Given the description of an element on the screen output the (x, y) to click on. 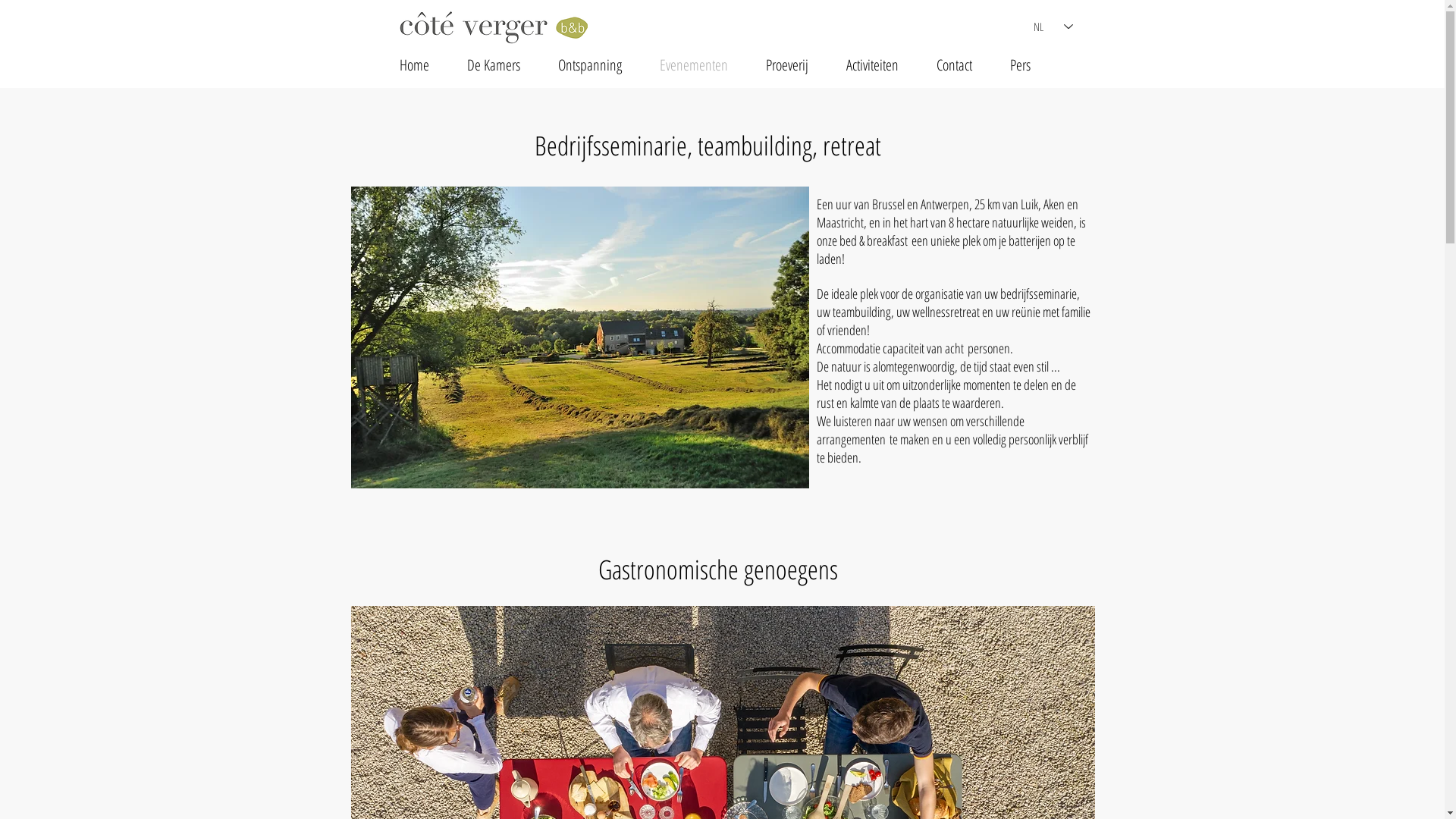
De Kamers Element type: text (492, 65)
Contact Element type: text (954, 65)
Activiteiten Element type: text (871, 65)
Home Element type: text (414, 65)
Cote-verger-lastB.png Element type: hover (492, 25)
Proeverij Element type: text (786, 65)
Evenementen Element type: text (693, 65)
Pers Element type: text (1019, 65)
Ontspanning Element type: text (589, 65)
